Given the description of an element on the screen output the (x, y) to click on. 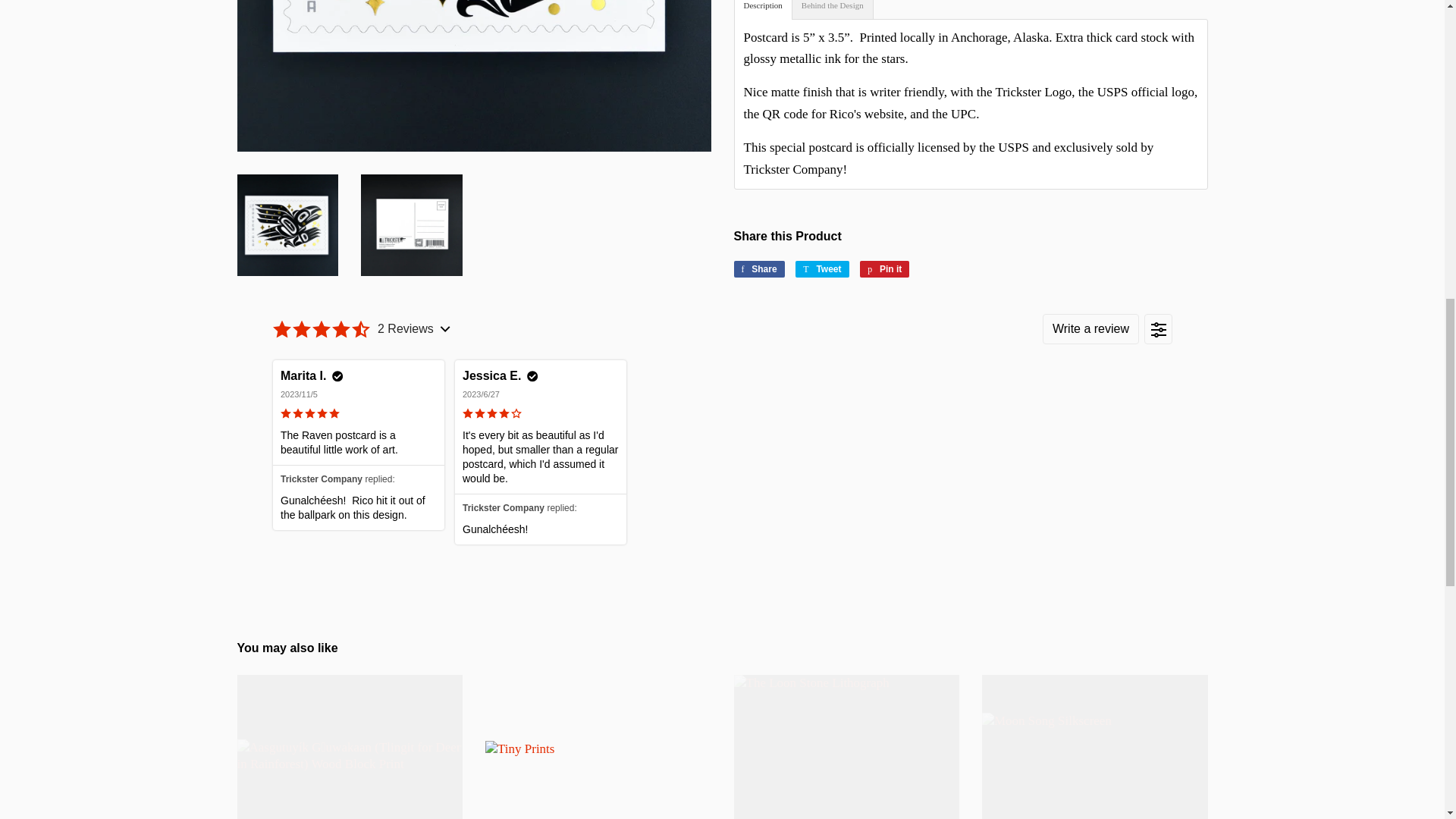
Pin on Pinterest (884, 269)
Share on Facebook (758, 269)
Tweet on Twitter (821, 269)
